Given the description of an element on the screen output the (x, y) to click on. 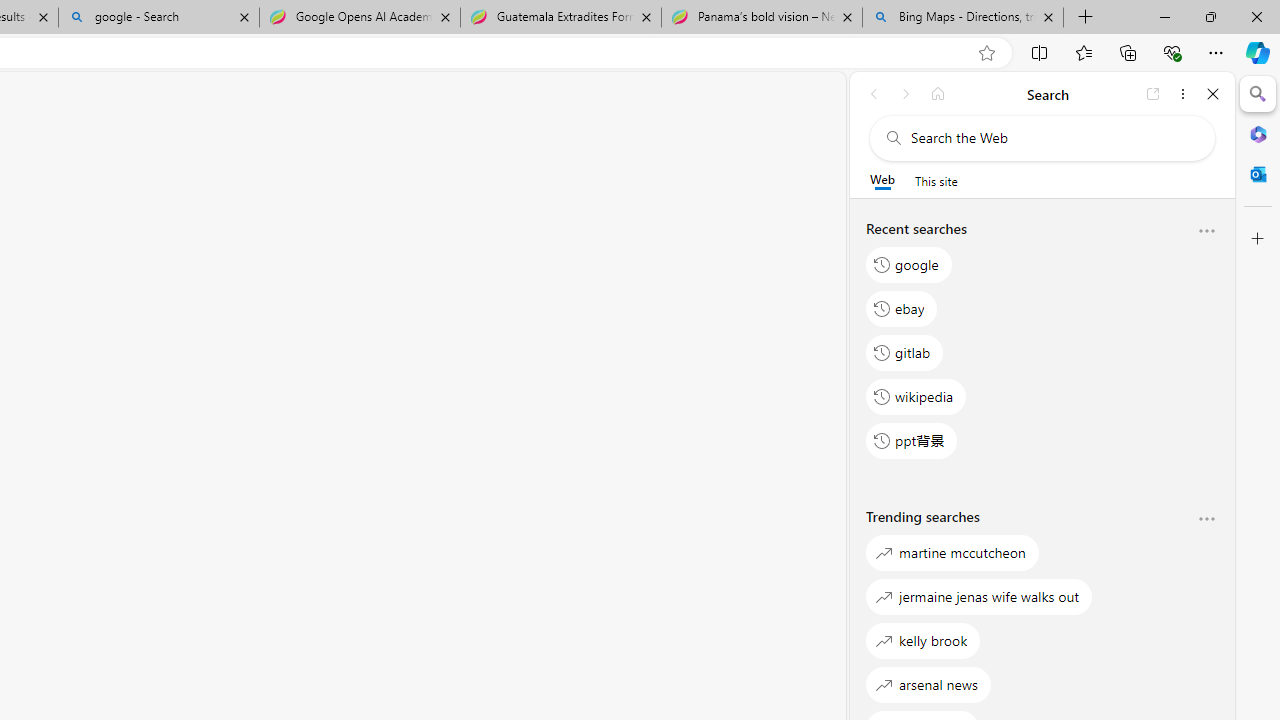
google - Search (158, 17)
google (909, 264)
wikipedia (916, 396)
Forward (906, 93)
